Given the description of an element on the screen output the (x, y) to click on. 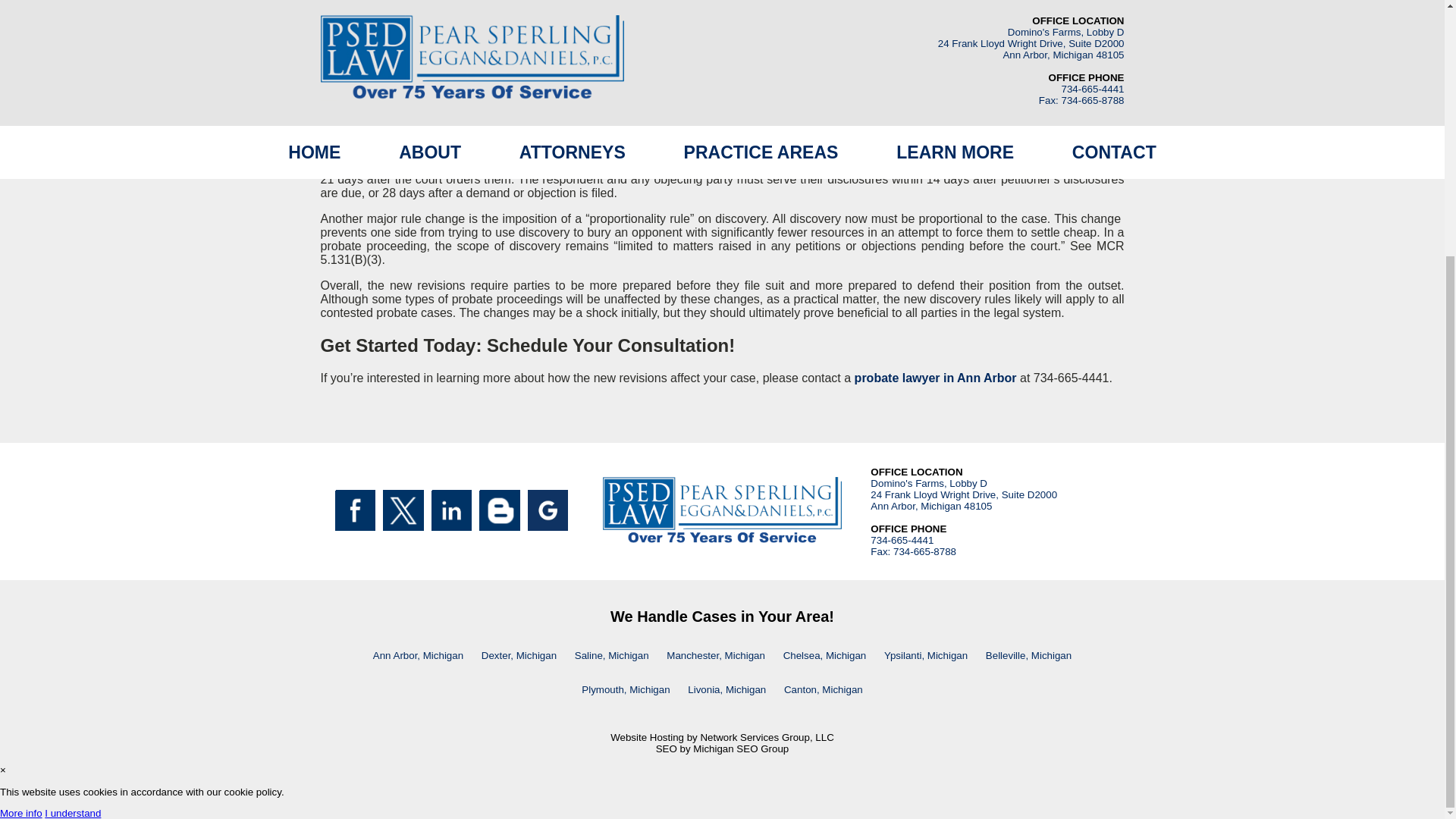
Dexter, Michigan (519, 655)
Canton, Michigan (823, 689)
Ann Arbor, Michigan (417, 655)
Website Hosting by Network Services Group, LLC (722, 737)
probate lawyer in Ann Arbor (935, 377)
Plymouth, Michigan (625, 689)
Chelsea, Michigan (825, 655)
734-665-4441 (901, 540)
Manchester, Michigan (716, 655)
SEO by Michigan SEO Group (722, 748)
Ypsilanti, Michigan (925, 655)
Livonia, Michigan (726, 689)
Belleville, Michigan (1028, 655)
Saline, Michigan (611, 655)
